Given the description of an element on the screen output the (x, y) to click on. 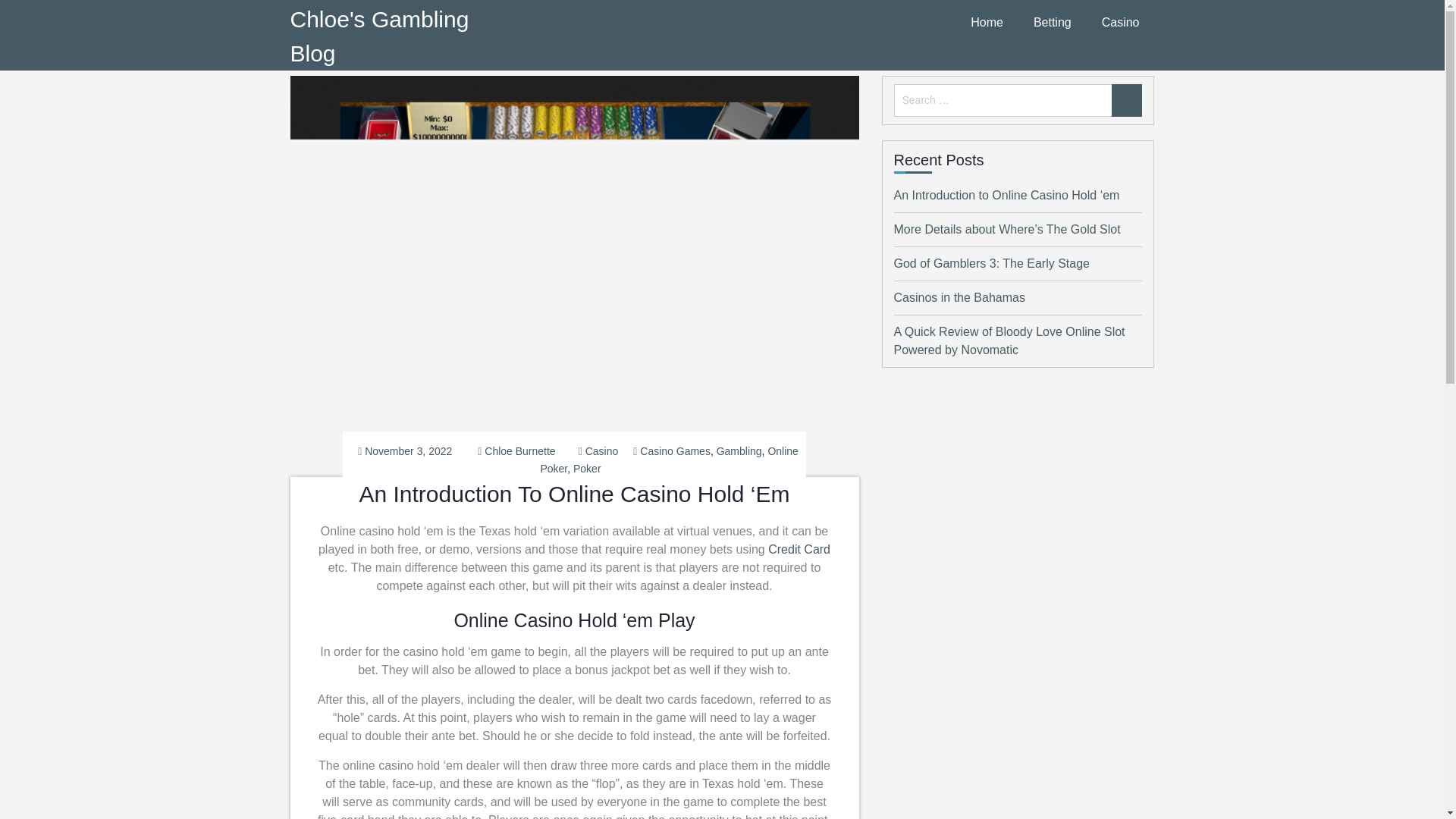
Gambling (738, 451)
Search (1126, 100)
Search (1126, 100)
God of Gamblers 3: The Early Stage (991, 263)
November 3, 2022 (408, 451)
Search (1126, 100)
Online Poker (668, 460)
Chloe's Gambling Blog (378, 36)
Chloe Burnette (519, 451)
Poker (587, 468)
